Given the description of an element on the screen output the (x, y) to click on. 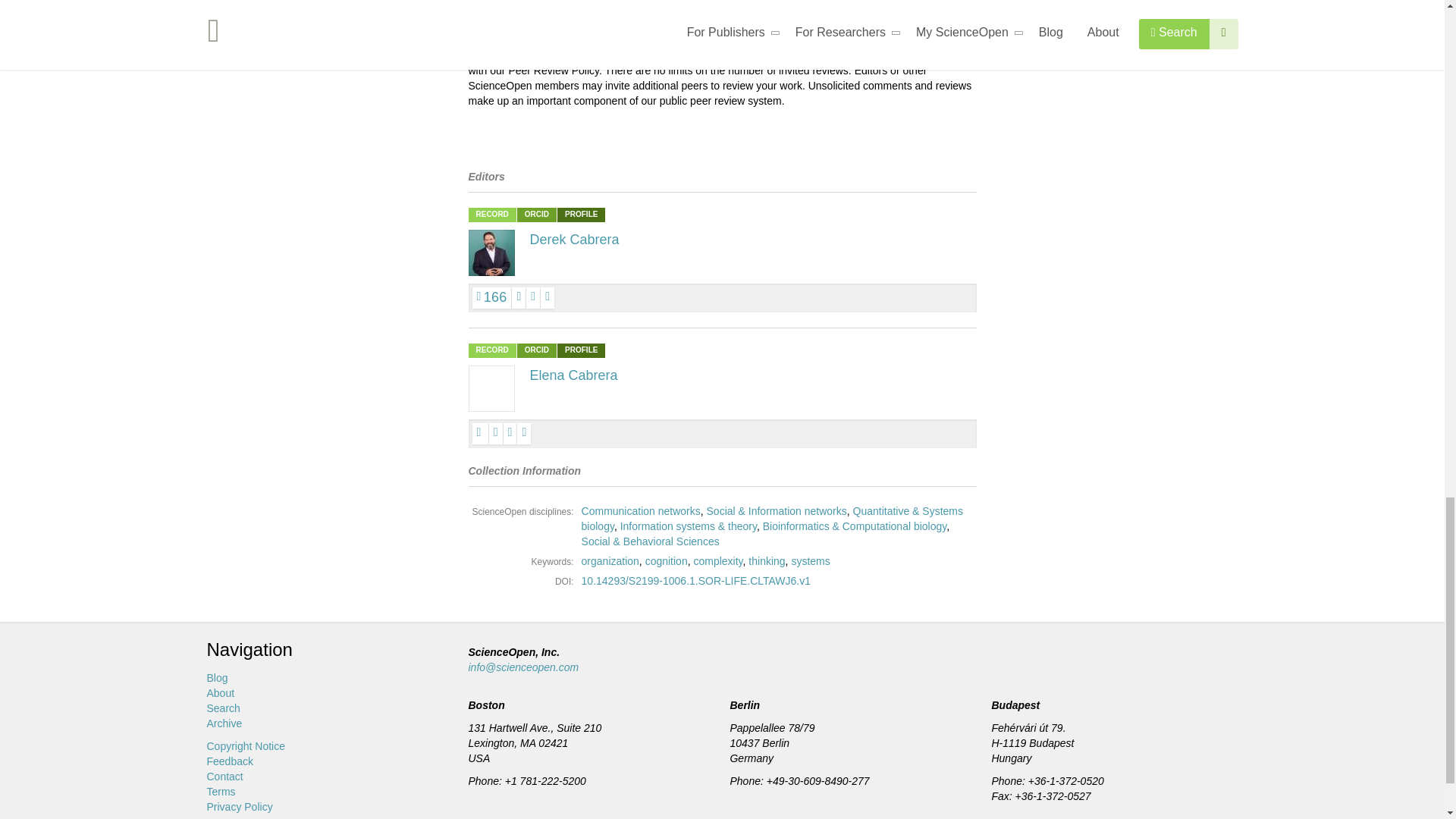
Publications (491, 297)
